Given the description of an element on the screen output the (x, y) to click on. 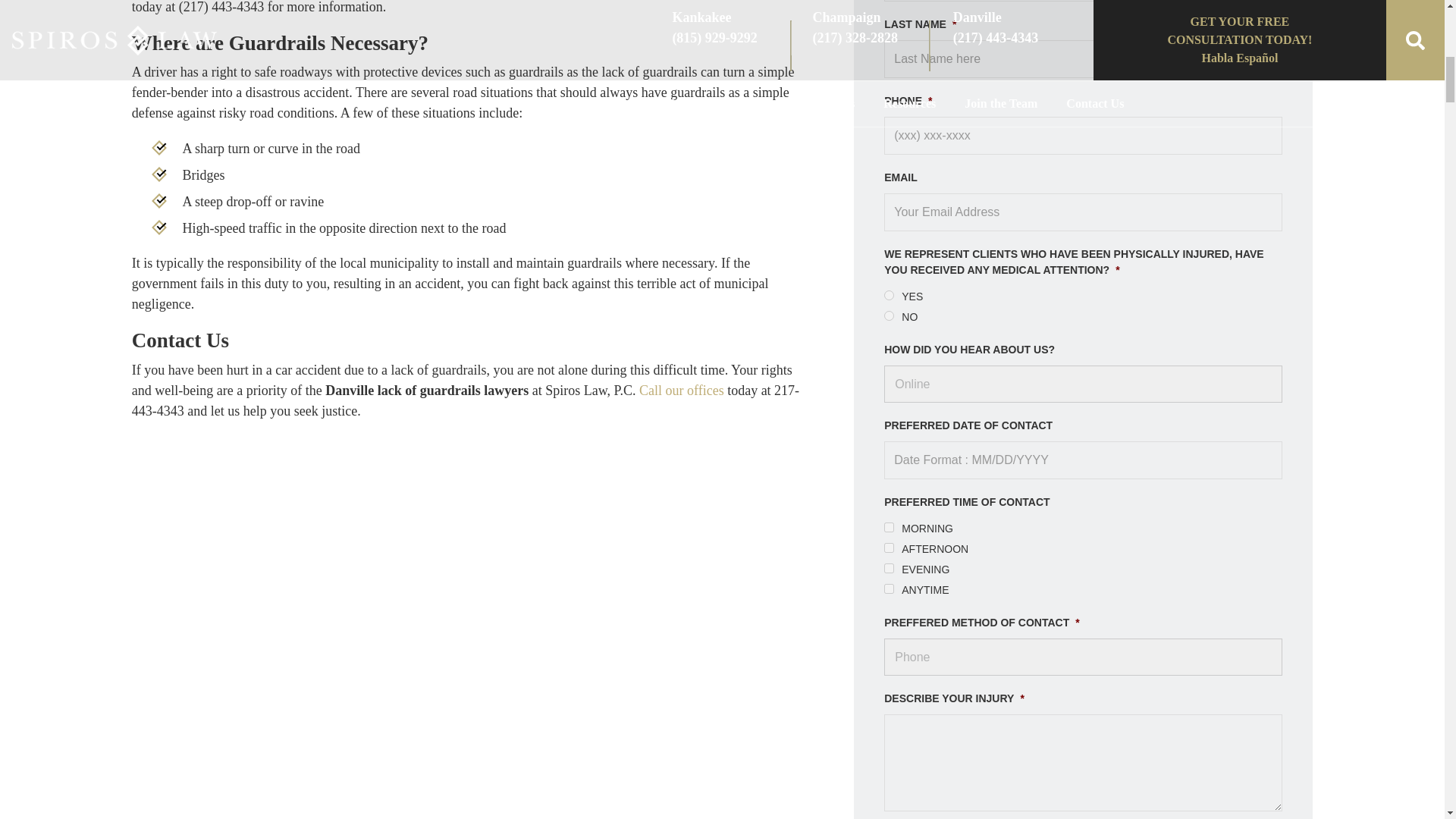
Anytime (888, 588)
No (888, 316)
Afternoon (888, 547)
Morning (888, 526)
Evening (888, 567)
Yes (888, 294)
Call our offices (681, 390)
